Given the description of an element on the screen output the (x, y) to click on. 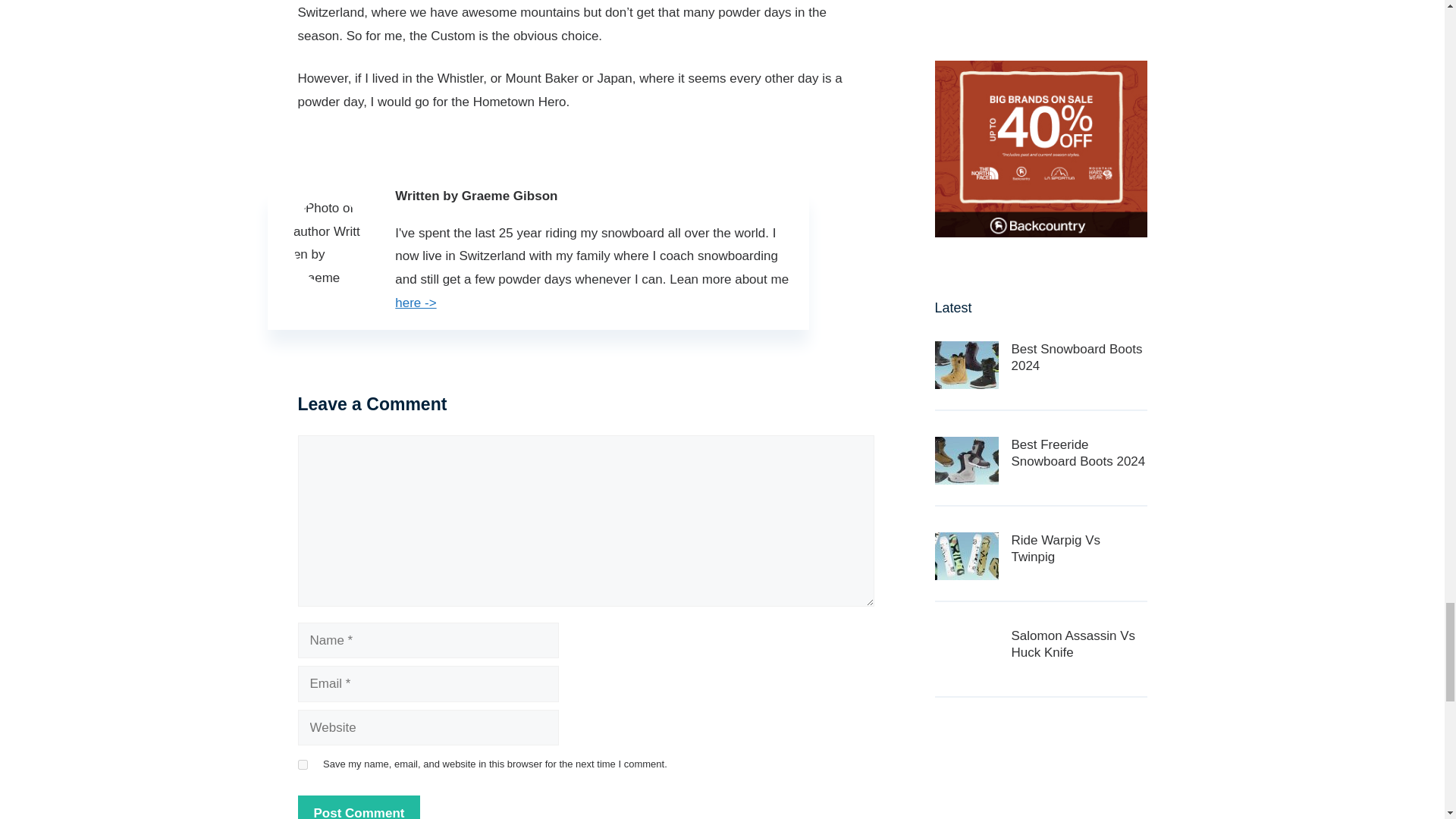
Post Comment (358, 807)
yes (302, 764)
